Given the description of an element on the screen output the (x, y) to click on. 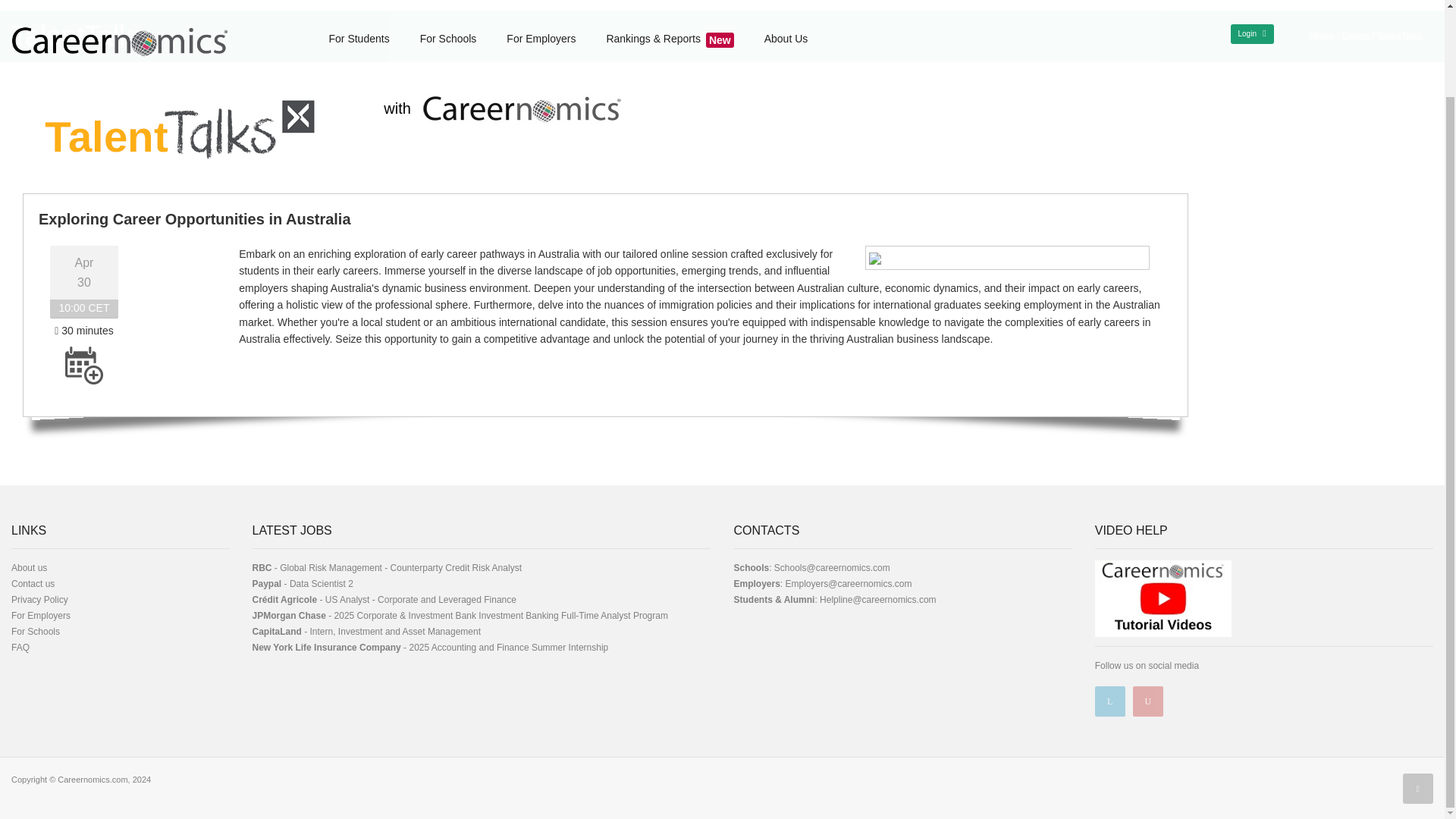
US Analyst - Corporate and Leveraged Finance (420, 599)
For Schools (35, 631)
For Employers (40, 615)
Events (1355, 36)
Global Risk Management - Counterparty Credit Risk Analyst (400, 567)
Privacy Policy (39, 599)
About us (28, 567)
Data Scientist 2 (321, 583)
Contact us (33, 583)
Home (1320, 36)
